Given the description of an element on the screen output the (x, y) to click on. 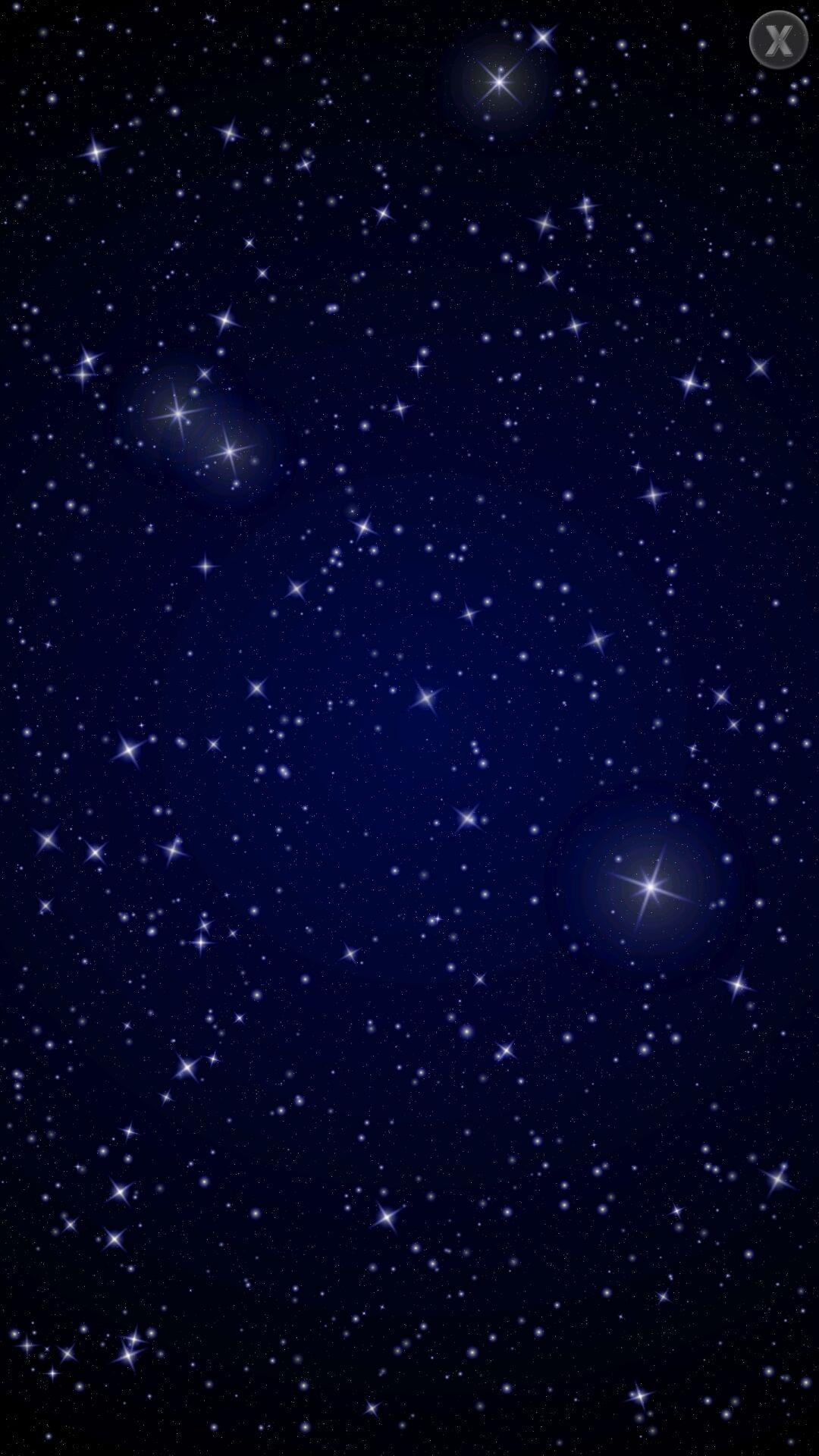
close window (778, 39)
